Given the description of an element on the screen output the (x, y) to click on. 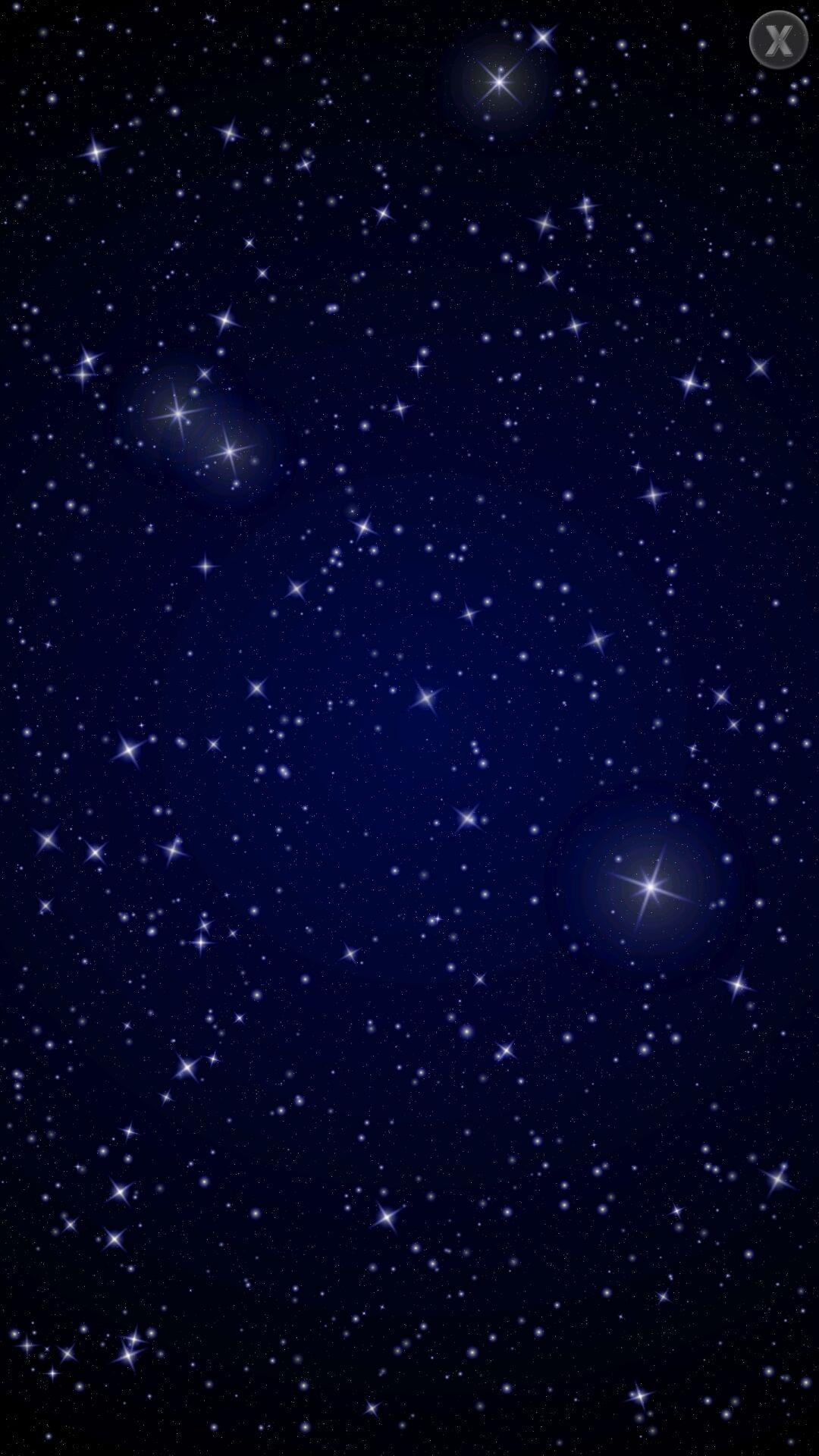
close window (778, 39)
